Given the description of an element on the screen output the (x, y) to click on. 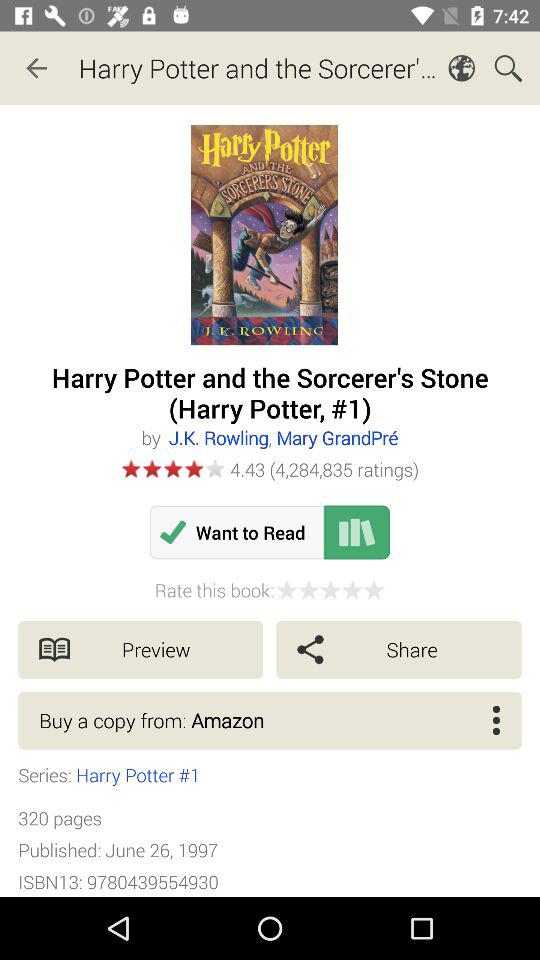
turn on the want to read item (236, 532)
